Given the description of an element on the screen output the (x, y) to click on. 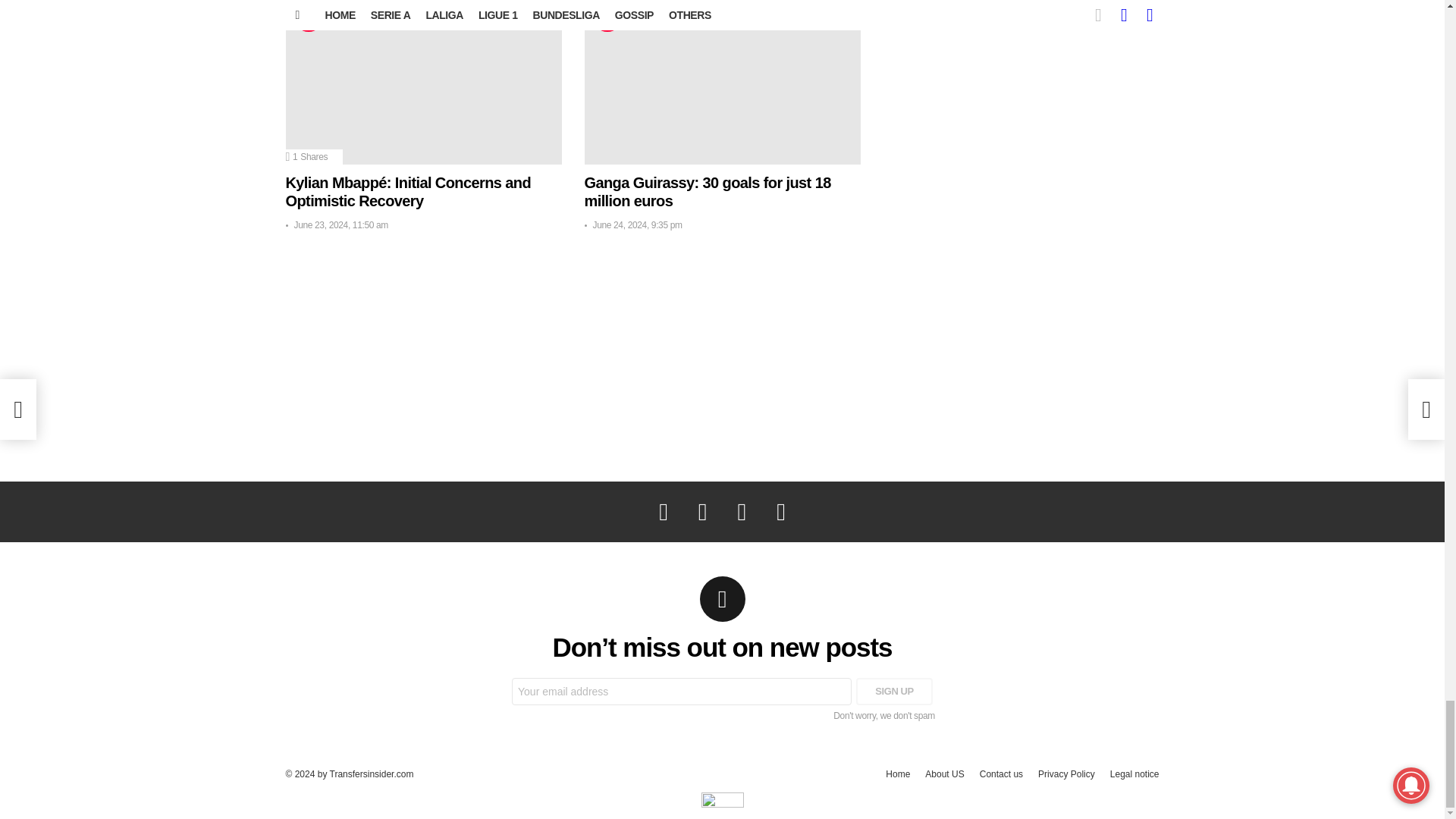
Sign up (894, 691)
